Given the description of an element on the screen output the (x, y) to click on. 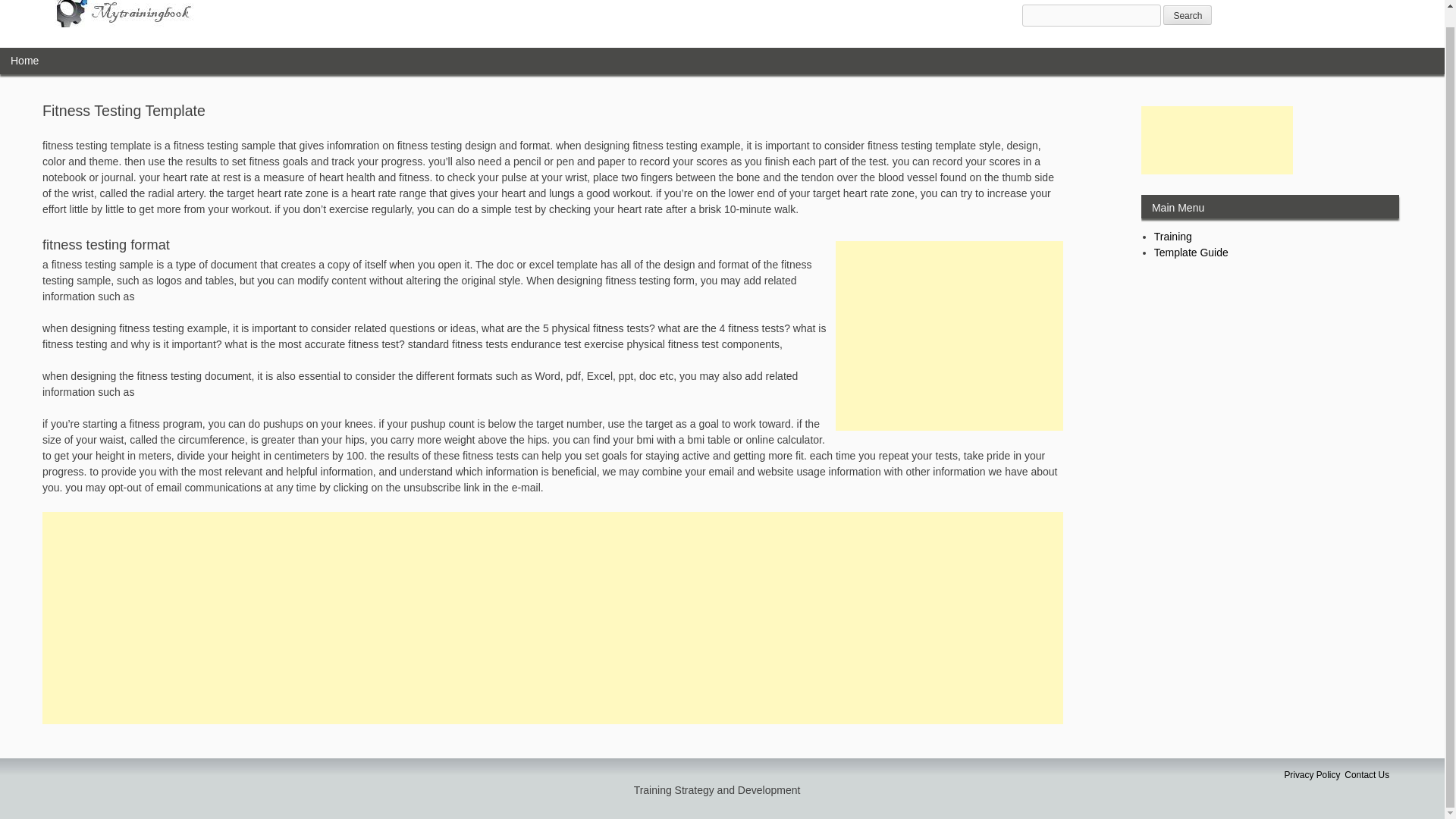
Search (1187, 14)
Home (24, 60)
Search (1187, 14)
Advertisement (1216, 140)
Advertisement (948, 335)
Template Guide (1191, 252)
Training (1173, 236)
Contact Us (1366, 774)
Privacy Policy (1311, 774)
